Given the description of an element on the screen output the (x, y) to click on. 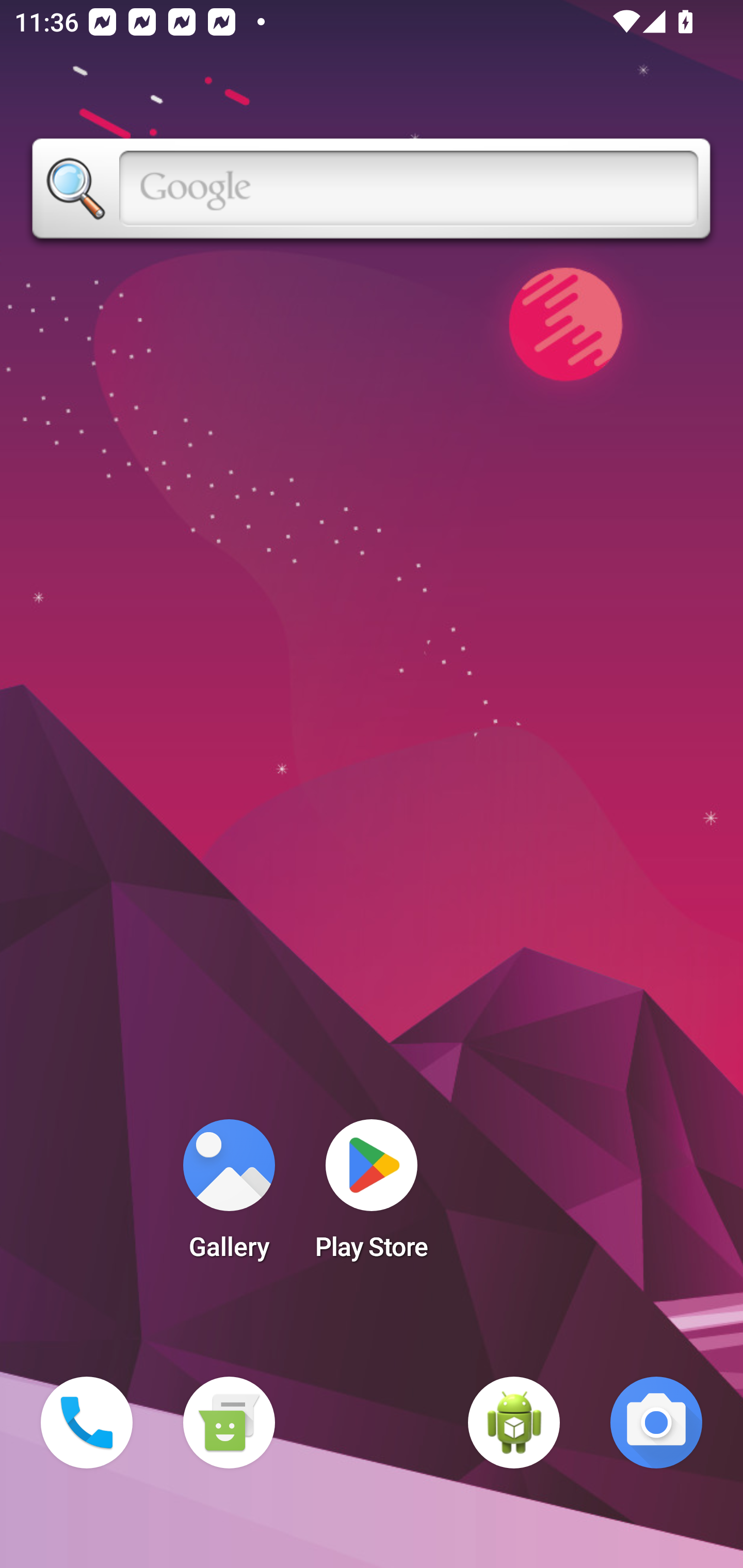
Gallery (228, 1195)
Play Store (371, 1195)
Phone (86, 1422)
Messaging (228, 1422)
WebView Browser Tester (513, 1422)
Camera (656, 1422)
